Given the description of an element on the screen output the (x, y) to click on. 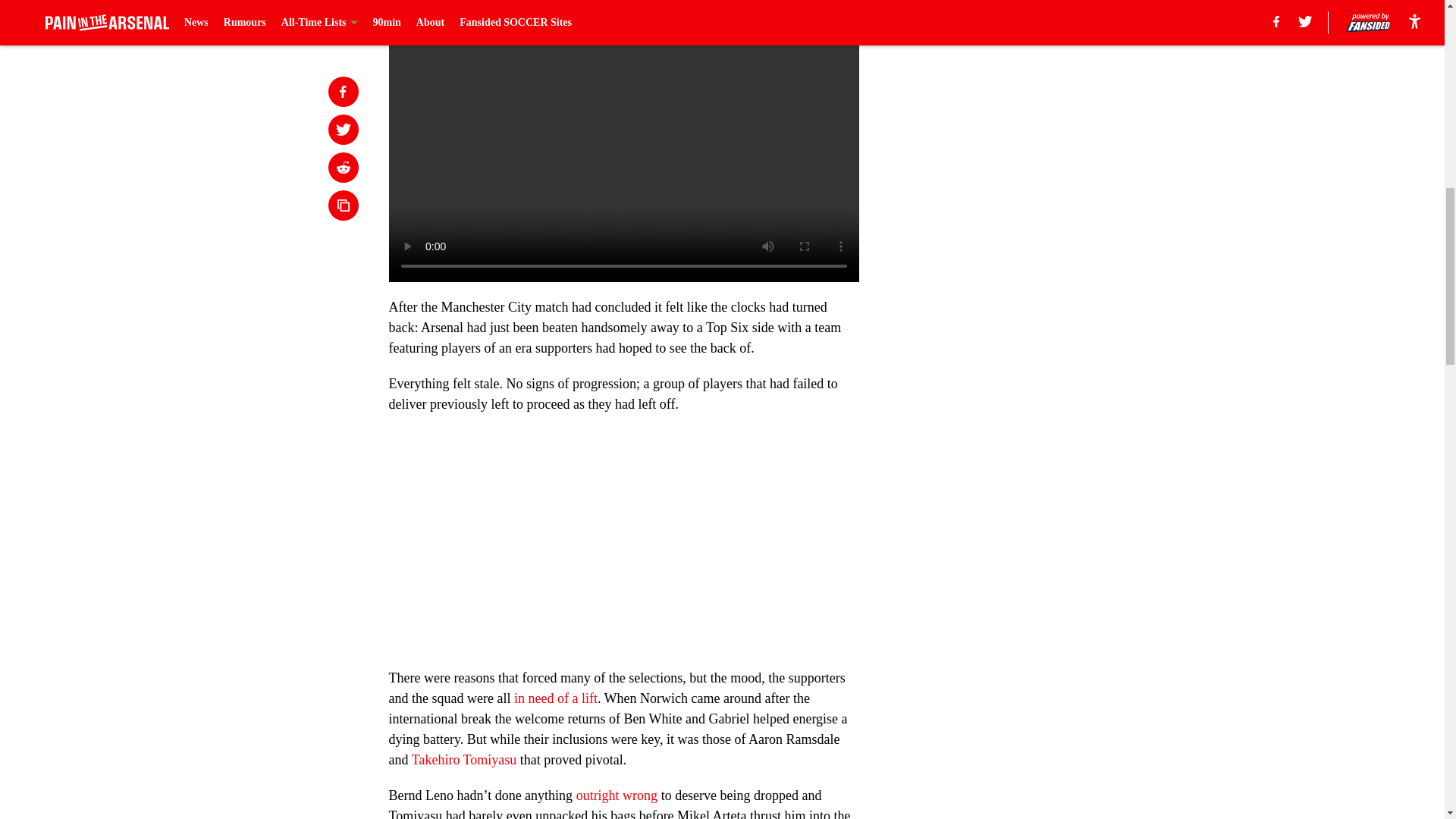
Takehiro Tomiyasu (464, 759)
in need of a lift (554, 698)
outright wrong (617, 795)
